Given the description of an element on the screen output the (x, y) to click on. 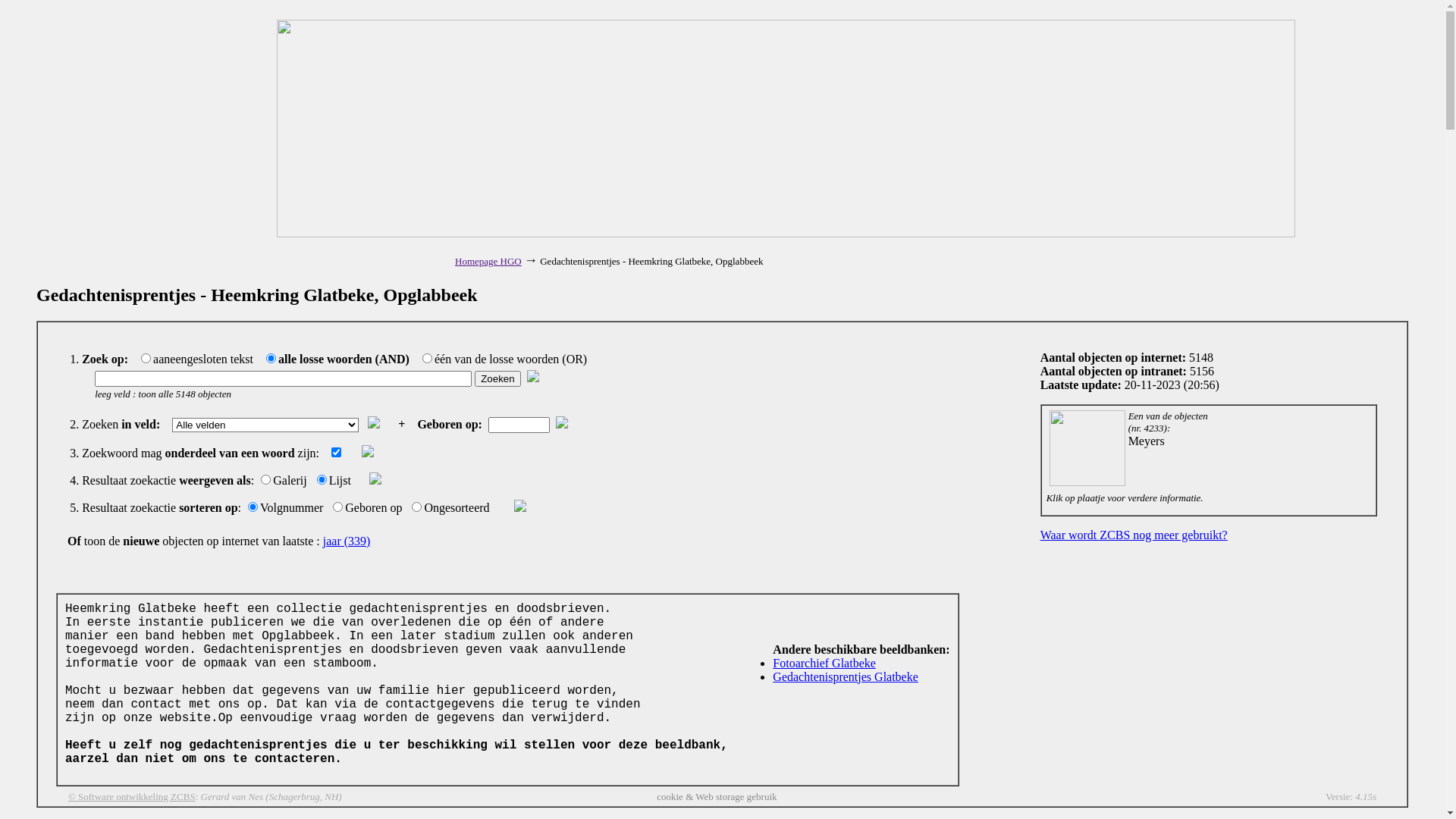
Homepage HGO Element type: text (488, 260)
jaar (339) Element type: text (346, 540)
and Element type: text (271, 358)
Zoeken Element type: text (497, 378)
Waar wordt ZCBS nog meer gebruikt? Element type: text (1133, 534)
or Element type: text (427, 358)
Fotoarchief Glatbeke Element type: text (823, 662)
Gedachtenisprentjes Glatbeke Element type: text (844, 676)
